Given the description of an element on the screen output the (x, y) to click on. 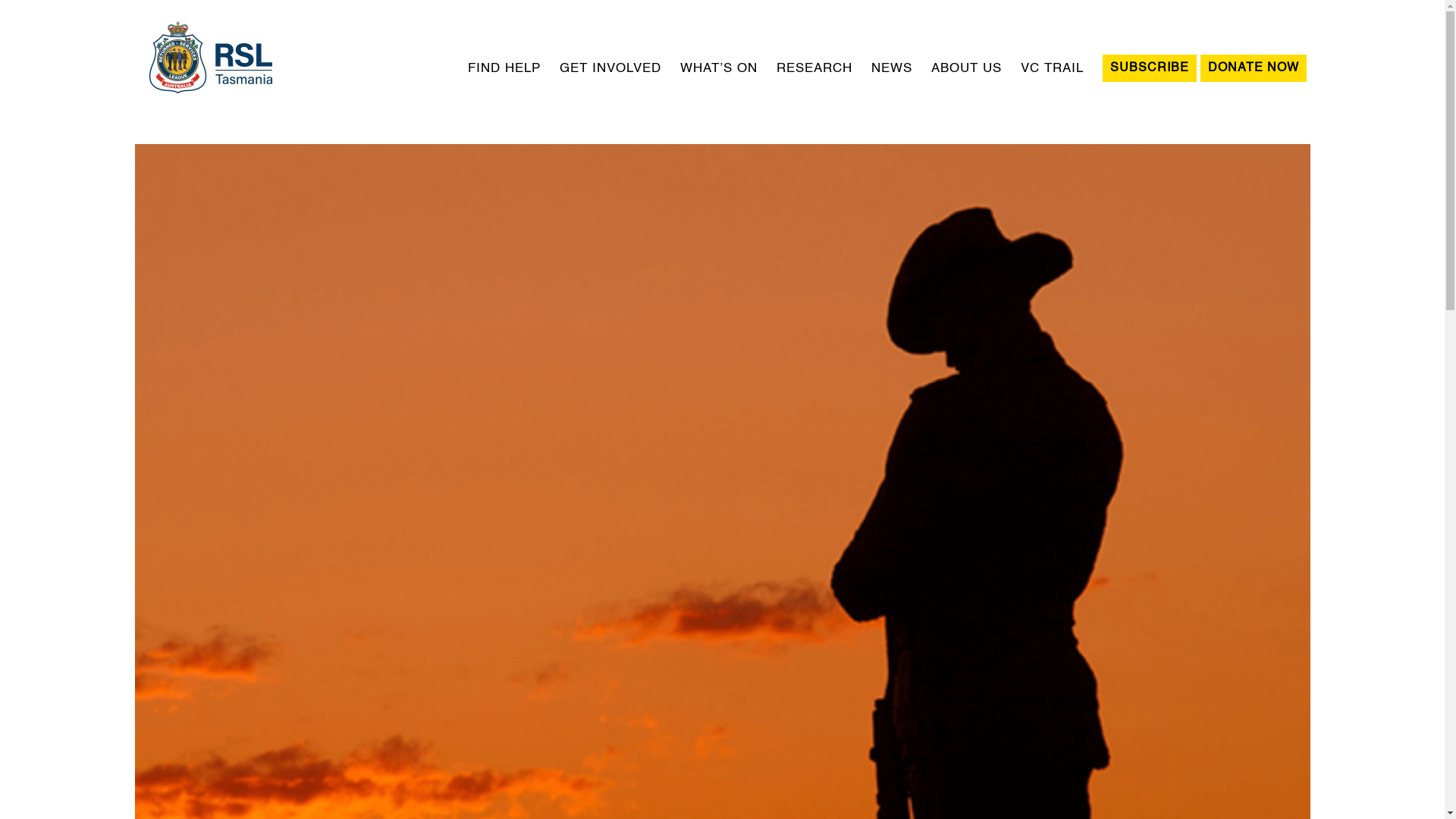
DONATE NOW Element type: text (1252, 68)
VC TRAIL Element type: text (1051, 68)
FIND HELP Element type: text (503, 68)
RESEARCH Element type: text (814, 68)
ABOUT US Element type: text (966, 68)
GET INVOLVED Element type: text (610, 68)
SUBSCRIBE Element type: text (1149, 68)
NEWS Element type: text (890, 68)
